Given the description of an element on the screen output the (x, y) to click on. 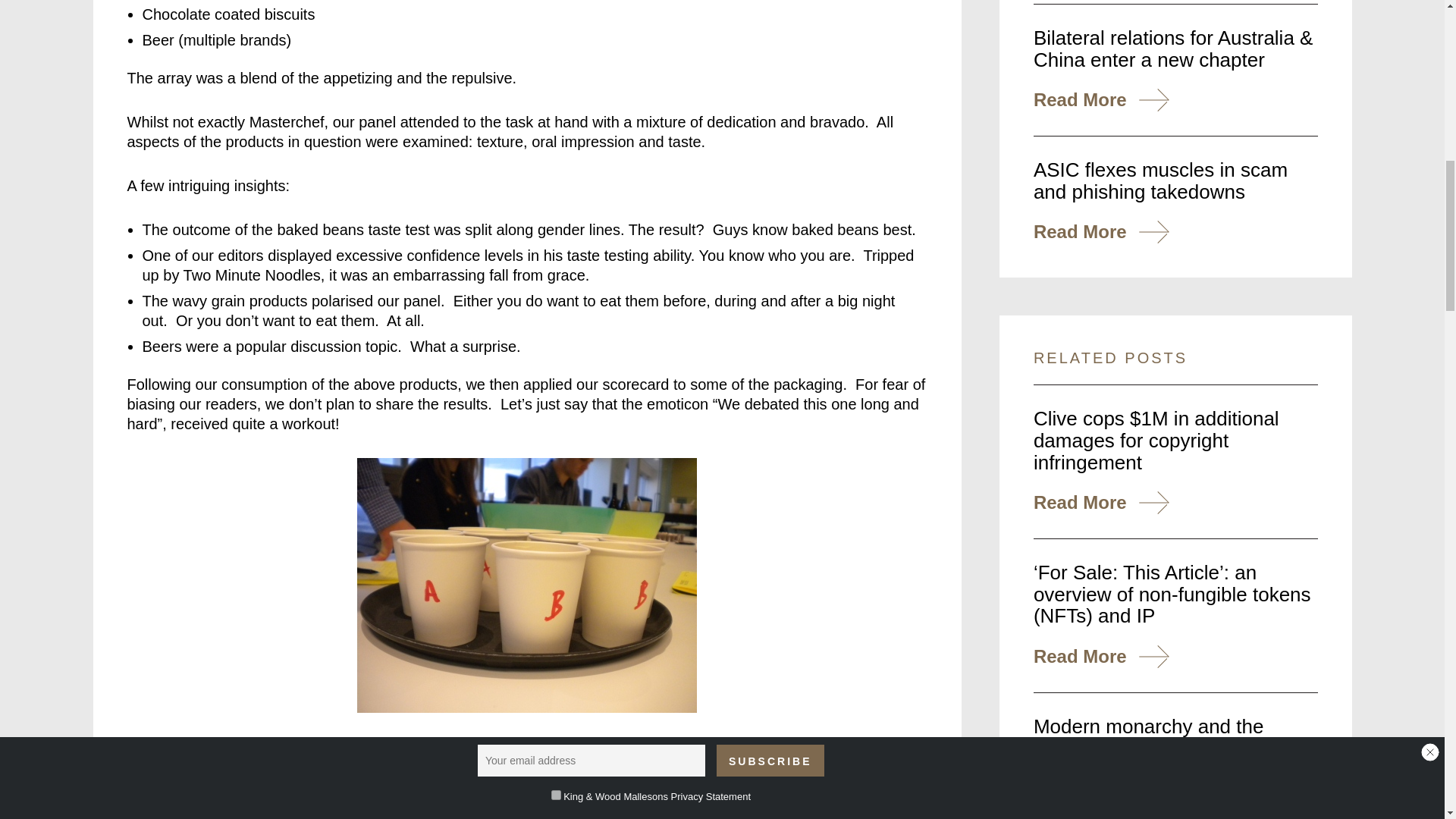
IPW Aldi2 (526, 778)
IPW Aldi (526, 584)
